Given the description of an element on the screen output the (x, y) to click on. 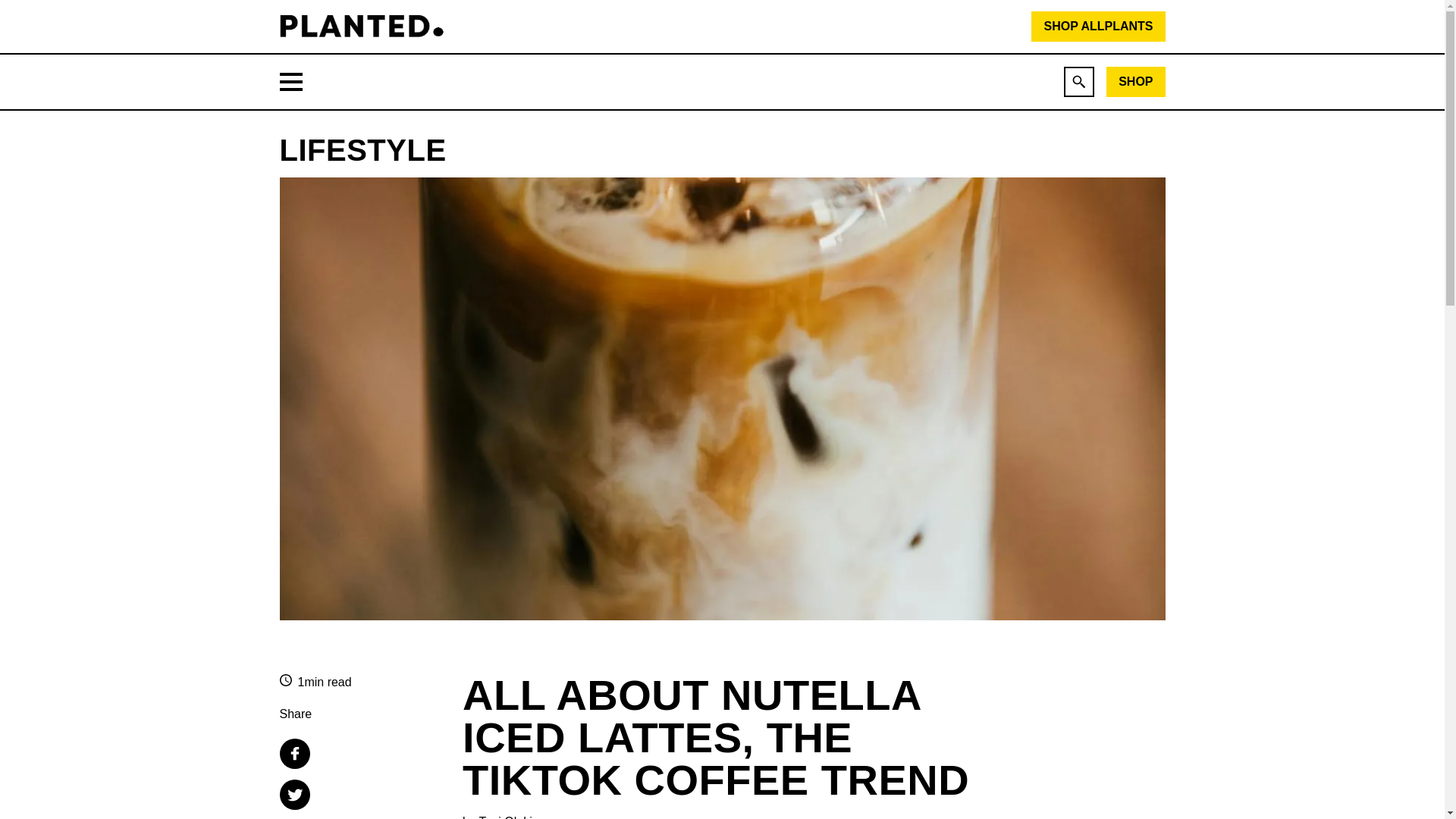
Toni Olukiran (513, 816)
SHOP (1135, 81)
SHOP ALLPLANTS (1097, 26)
